Given the description of an element on the screen output the (x, y) to click on. 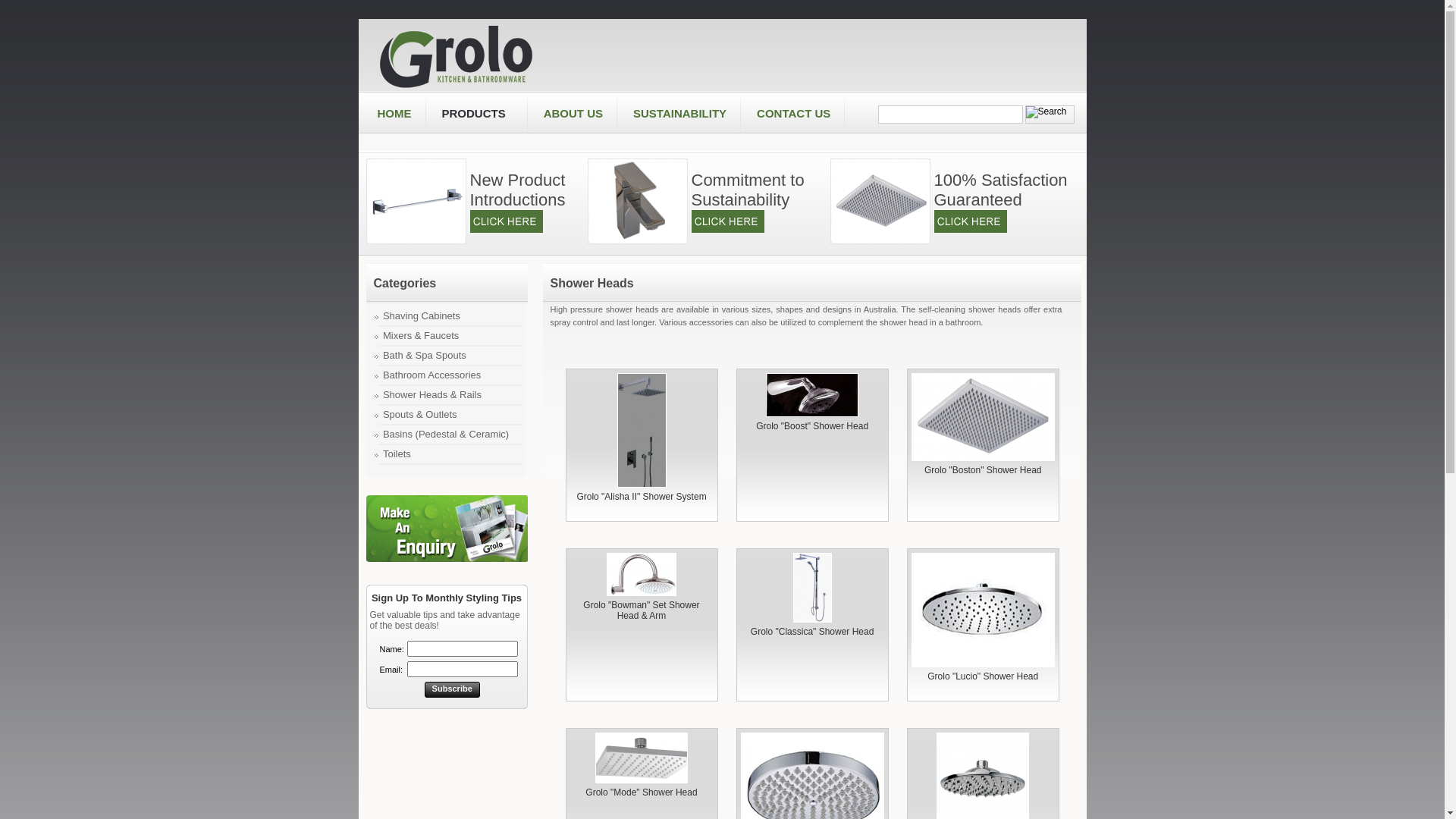
Grolo "Boost" Shower Head Element type: hover (811, 395)
Grolo "Lucio" Shower Head Element type: hover (982, 609)
Grolo "Classica" Shower Head Element type: text (812, 631)
Grolo "Mode" Shower Head Element type: hover (641, 757)
Grolo "Boston" Shower Head Element type: text (982, 469)
Search Element type: hover (950, 114)
Grolo "Alisha II" Shower System Element type: hover (641, 430)
Grolo "Alisha II" Shower System Element type: text (641, 496)
Subscribe Element type: text (452, 689)
ABOUT US Element type: text (573, 113)
Grolo "Bowman" Set Shower Head & Arm Element type: hover (641, 574)
SUSTAINABILITY Element type: text (679, 113)
Grolo "Bowman" Set Shower Head & Arm Element type: text (641, 610)
Grolo Bathroom & Kichenware Element type: hover (456, 54)
Grolo "Boston" Shower Head Element type: hover (982, 417)
Grolo "Lucio" Shower Head Element type: text (982, 676)
Grolo "Mode" Shower Head Element type: text (640, 792)
Grolo "Classica" Shower Head Element type: hover (812, 587)
CONTACT US Element type: text (793, 113)
HOME Element type: text (394, 113)
PRODUCTS Element type: text (476, 113)
Grolo "Boost" Shower Head Element type: text (812, 425)
